Given the description of an element on the screen output the (x, y) to click on. 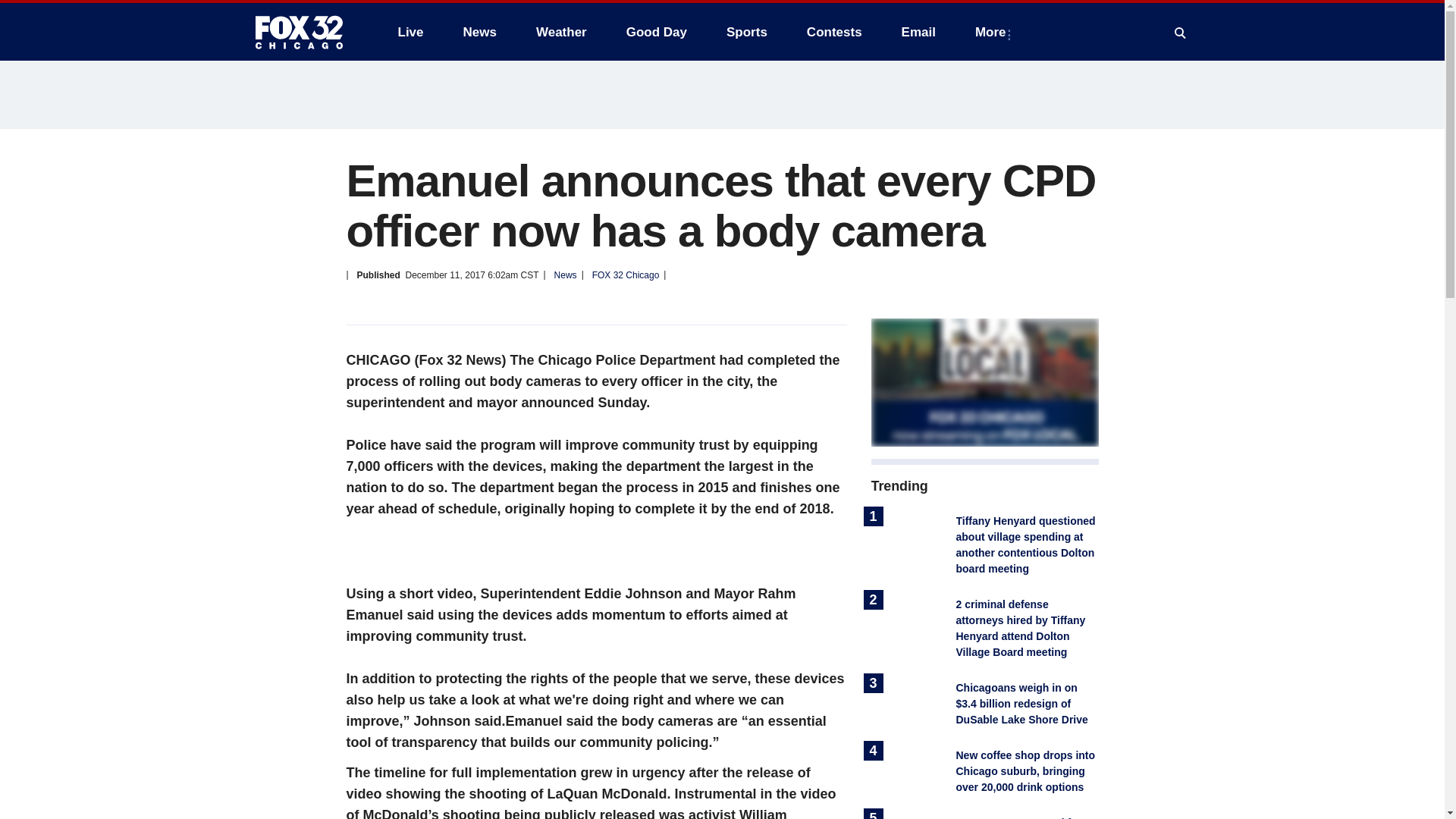
Live (410, 32)
Sports (746, 32)
Email (918, 32)
Contests (834, 32)
Weather (561, 32)
Good Day (656, 32)
More (993, 32)
News (479, 32)
